Given the description of an element on the screen output the (x, y) to click on. 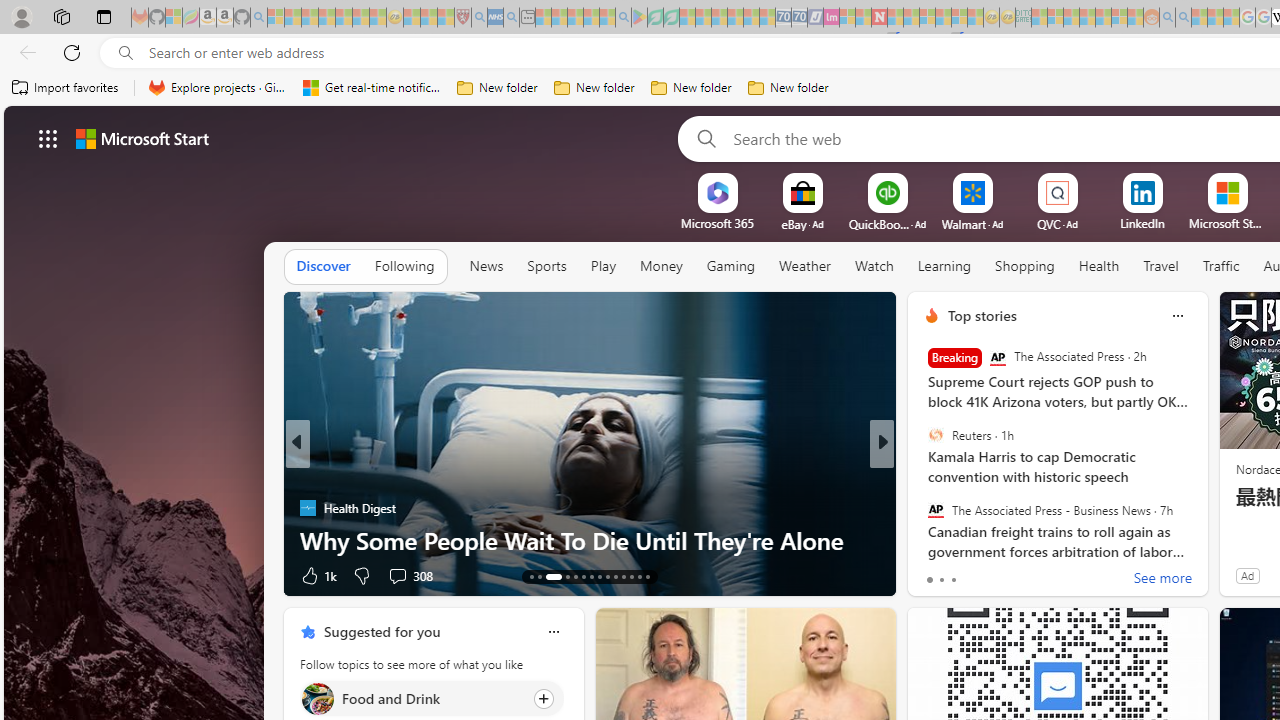
View comments 67 Comment (1013, 575)
View comments 67 Comment (1021, 574)
Learning (944, 265)
Watch (874, 265)
Lucy Diamond (923, 507)
Microsoft-Report a Concern to Bing - Sleeping (173, 17)
View comments 84 Comment (1019, 575)
AutomationID: tab-17 (574, 576)
Body Network (923, 475)
View comments 1 Comment (1019, 574)
